Given the description of an element on the screen output the (x, y) to click on. 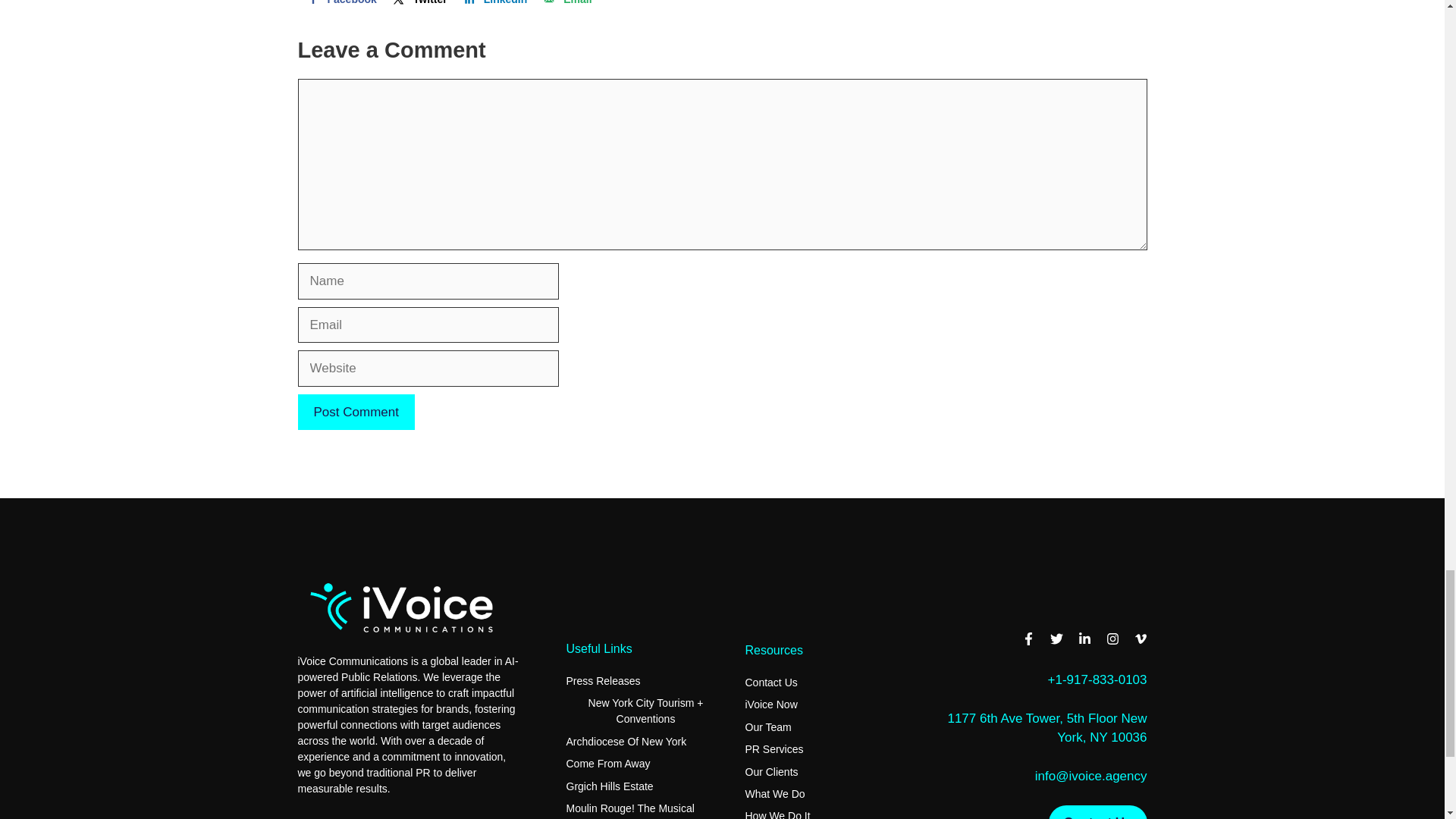
Facebook (339, 7)
Contact Us (323, 818)
Share on X (419, 7)
Twitter (419, 7)
LinkedIn (494, 7)
Archdiocese Of New York (625, 741)
Email (566, 7)
Post Comment (355, 411)
Share on Facebook (339, 7)
Grgich Hills Estate (609, 786)
Share on LinkedIn (494, 7)
Send over email (566, 7)
Come From Away (607, 763)
Press Releases (603, 681)
Moulin Rouge! The Musical (630, 808)
